Given the description of an element on the screen output the (x, y) to click on. 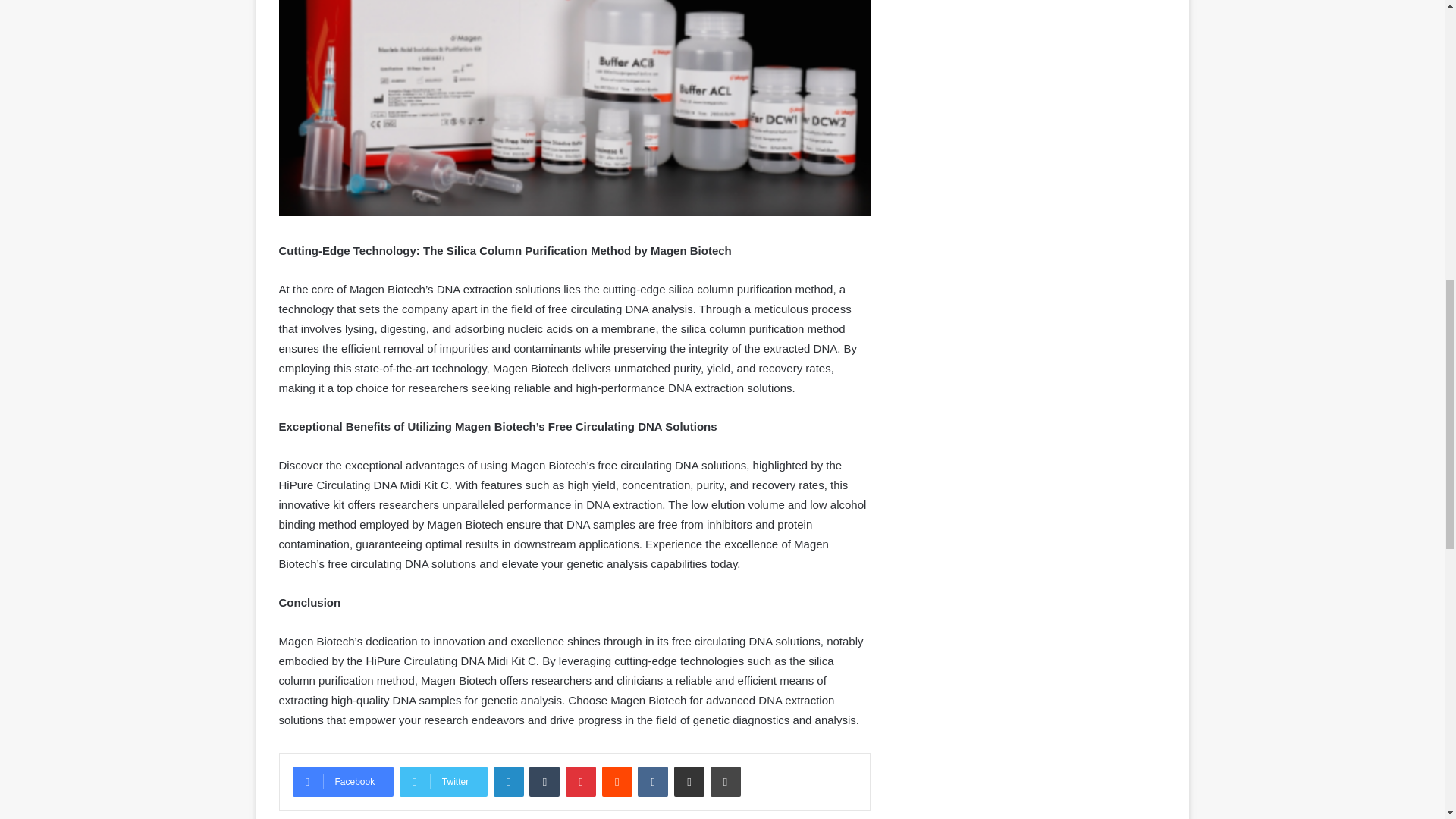
Share via Email (689, 781)
Facebook (343, 781)
LinkedIn (508, 781)
LinkedIn (508, 781)
Facebook (343, 781)
Share via Email (689, 781)
Reddit (616, 781)
Tumblr (544, 781)
Reddit (616, 781)
Print (725, 781)
